Given the description of an element on the screen output the (x, y) to click on. 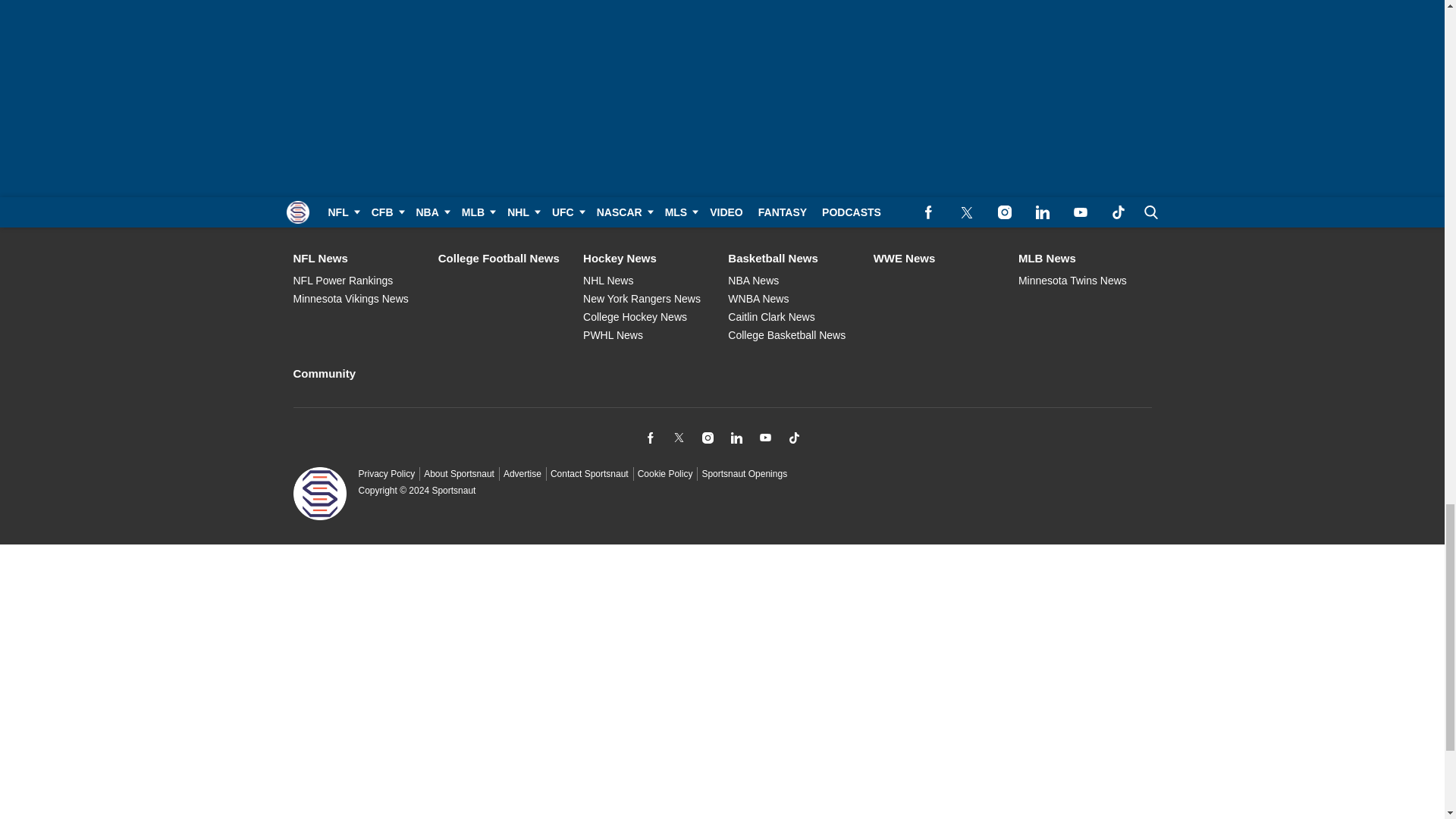
Follow us on Instagram (707, 436)
Follow us on Twitter (678, 436)
Subscribe to our YouTube channel (765, 436)
Follow us on Facebook (650, 436)
Connect with us on LinkedIn (736, 436)
Connect with us on TikTok (794, 436)
